Given the description of an element on the screen output the (x, y) to click on. 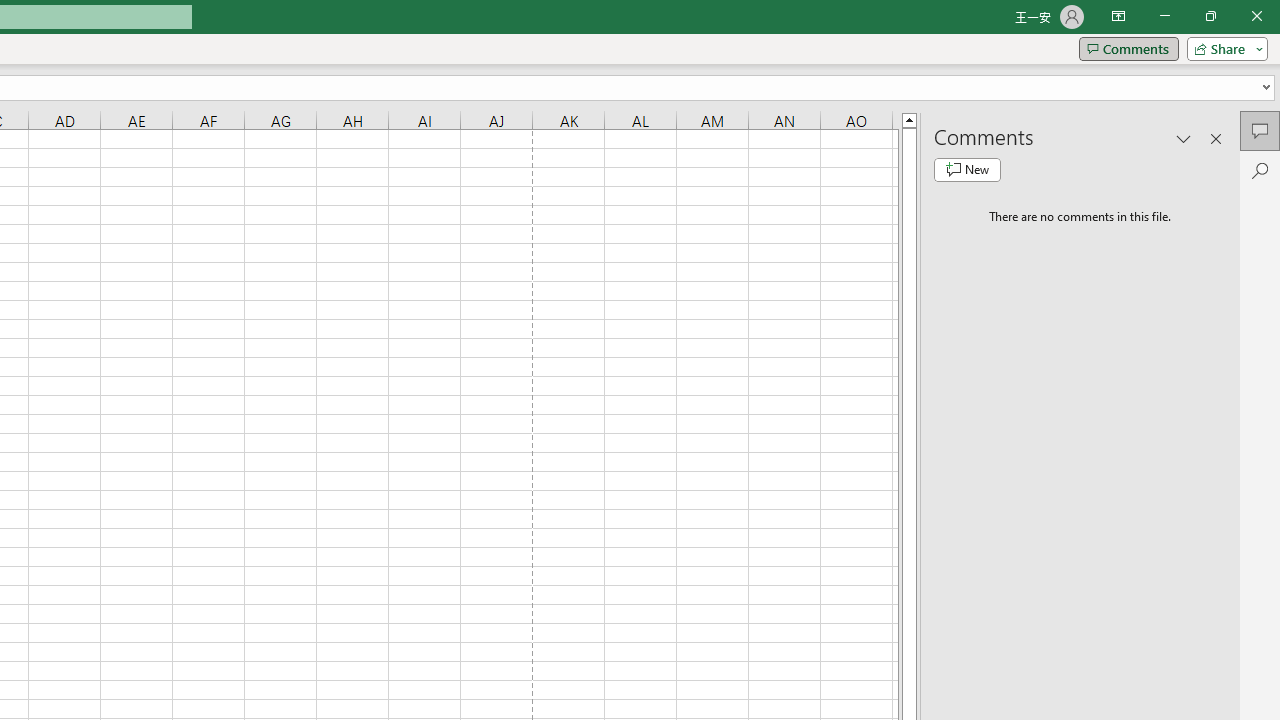
New comment (967, 169)
